Given the description of an element on the screen output the (x, y) to click on. 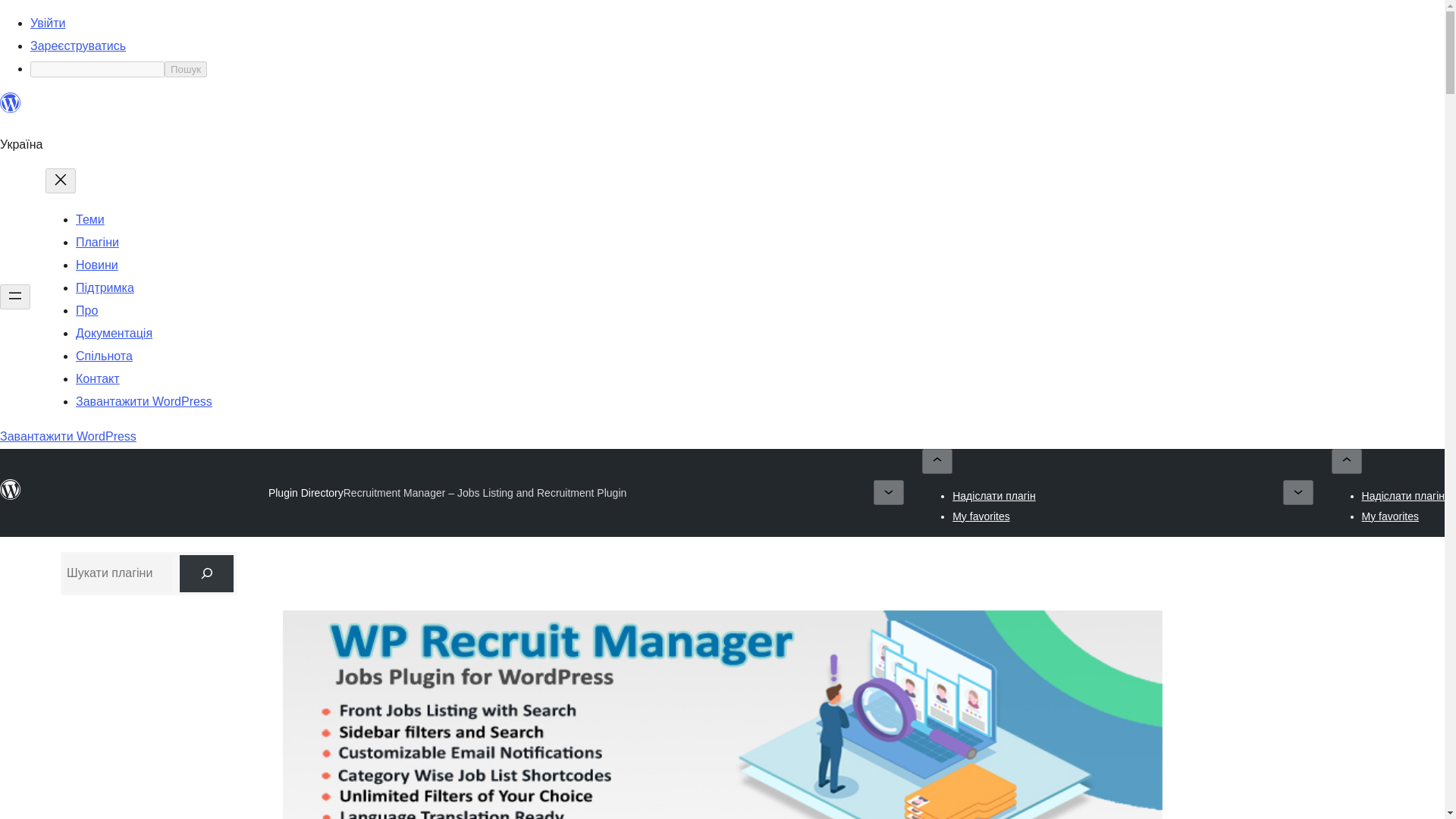
WordPress.org (10, 102)
WordPress.org (10, 489)
My favorites (980, 515)
My favorites (1389, 515)
WordPress.org (10, 109)
Plugin Directory (305, 492)
WordPress.org (10, 496)
